Given the description of an element on the screen output the (x, y) to click on. 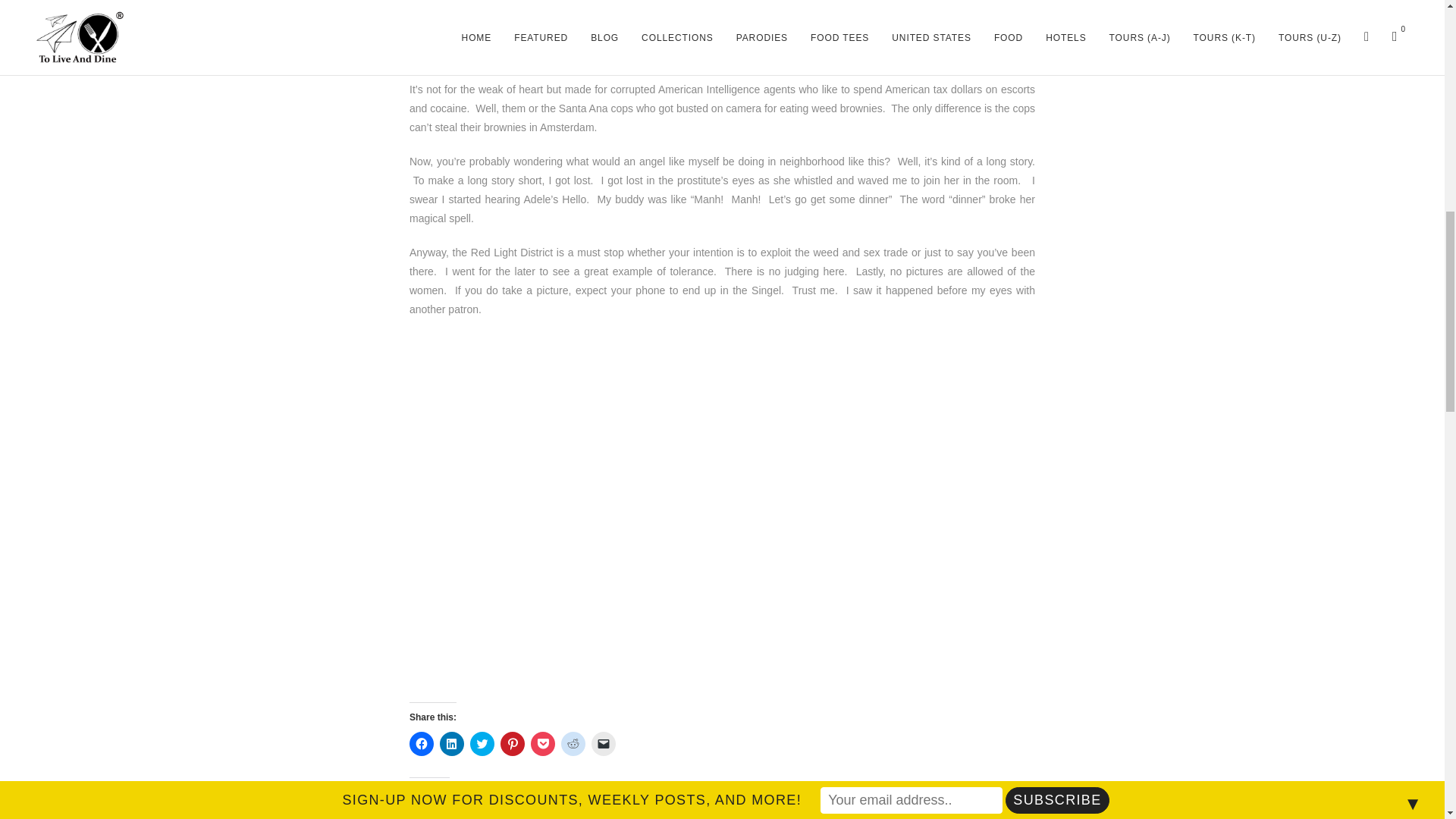
Click to email a link to a friend (603, 743)
Click to share on Facebook (421, 743)
Click to share on Twitter (482, 743)
Click to share on Reddit (572, 743)
Click to share on LinkedIn (451, 743)
Click to share on Pocket (542, 743)
Click to share on Pinterest (512, 743)
